Given the description of an element on the screen output the (x, y) to click on. 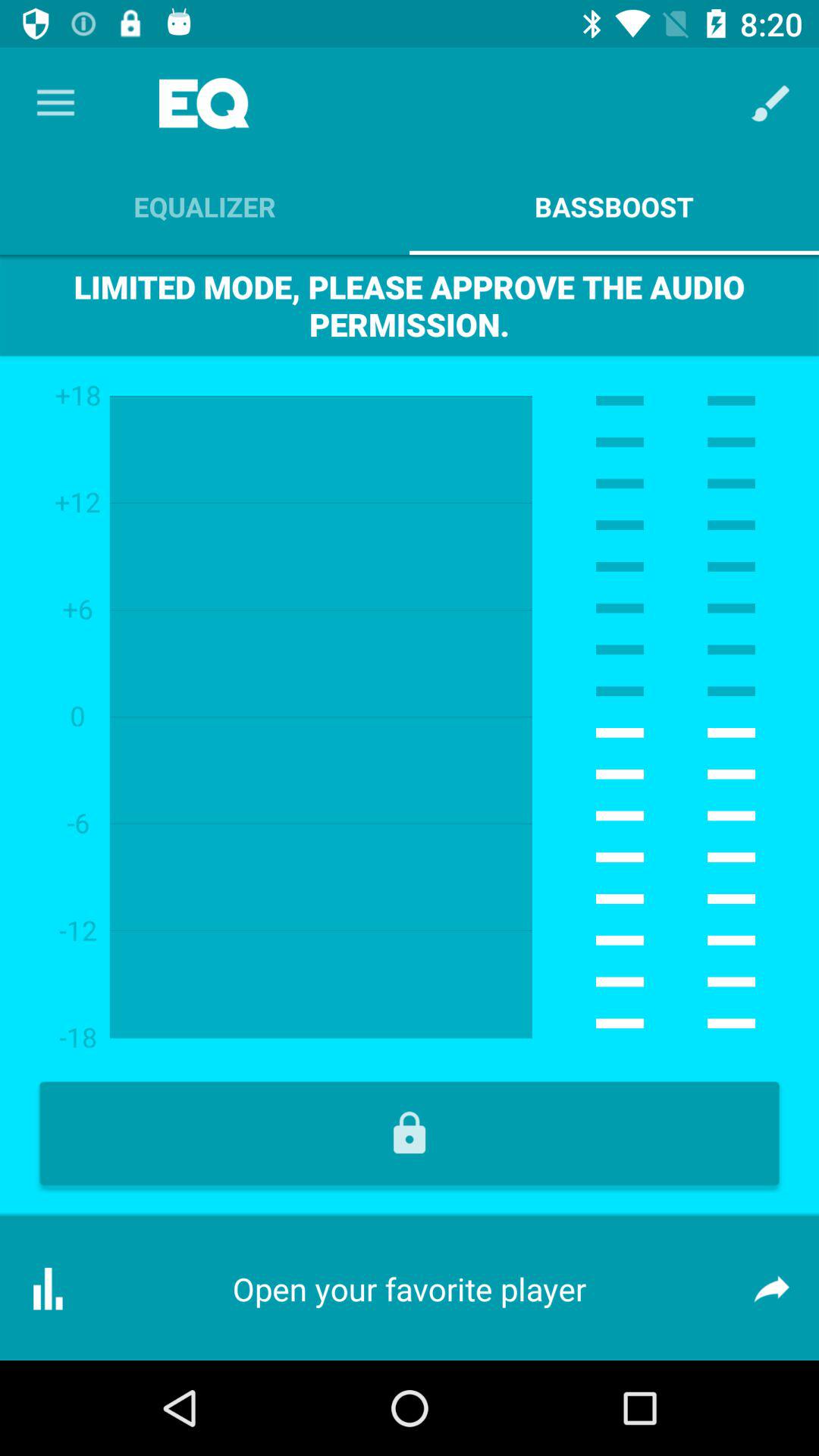
tap the item next to bassboost app (204, 206)
